Given the description of an element on the screen output the (x, y) to click on. 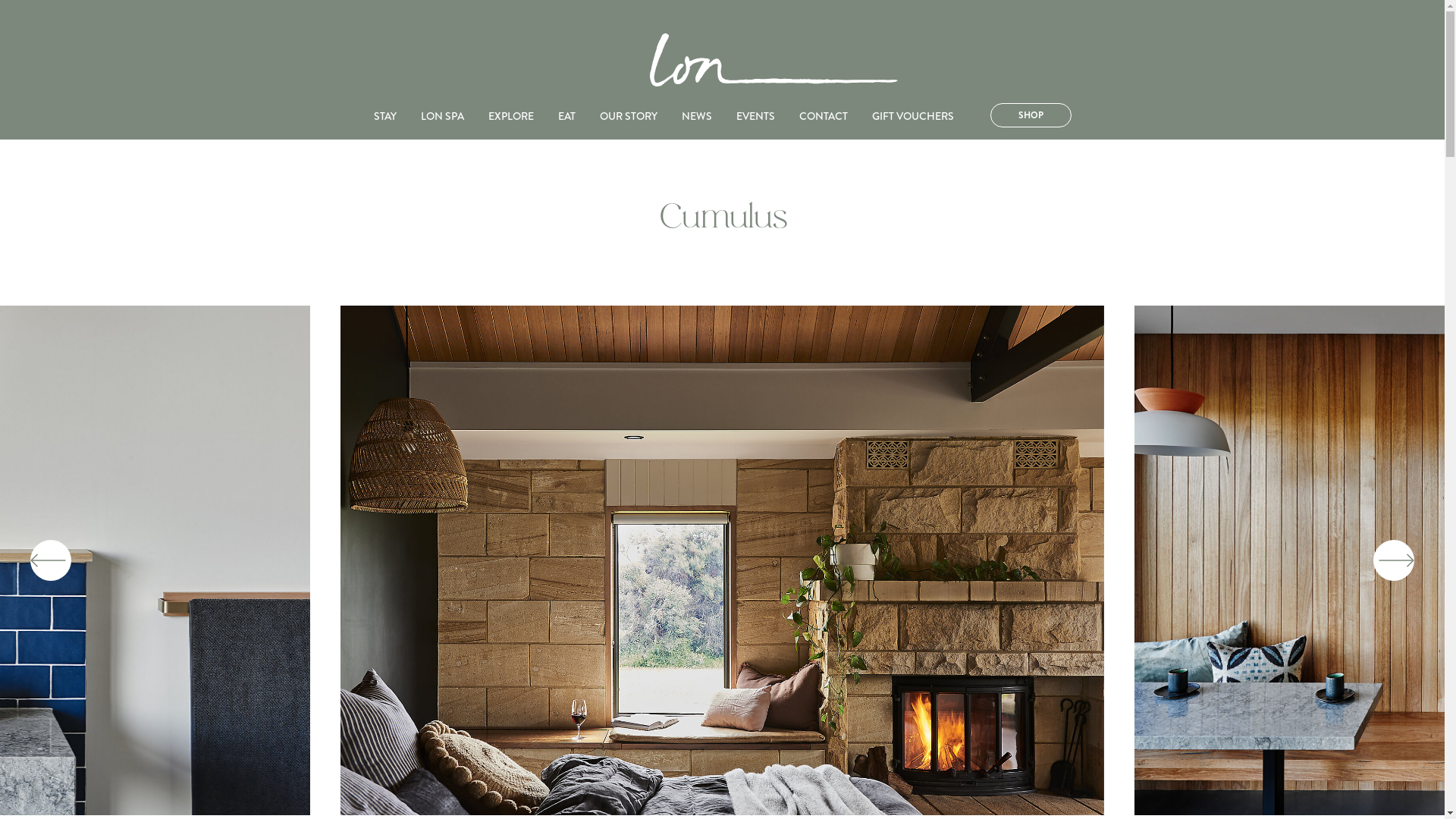
EXPLORE Element type: text (510, 115)
STAY Element type: text (384, 115)
EAT Element type: text (566, 115)
SHOP Element type: text (1030, 115)
CONTACT Element type: text (823, 115)
NEWS Element type: text (695, 115)
OUR STORY Element type: text (627, 115)
LON SPA Element type: text (441, 115)
EVENTS Element type: text (754, 115)
GIFT VOUCHERS Element type: text (912, 115)
